Given the description of an element on the screen output the (x, y) to click on. 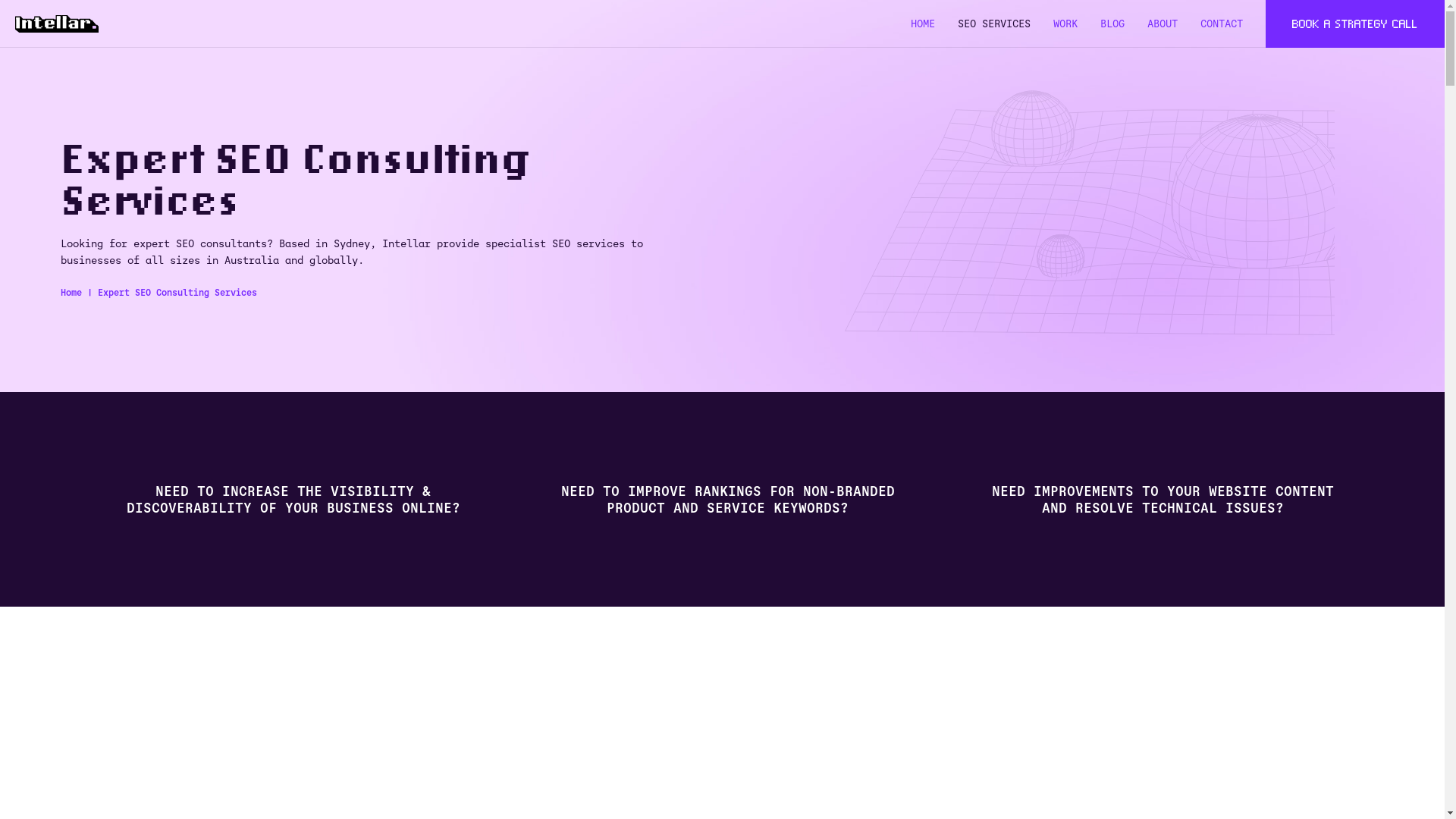
CONTACT Element type: text (1221, 23)
HOME Element type: text (922, 23)
WORK Element type: text (1065, 23)
Home Element type: text (70, 292)
BLOG Element type: text (1112, 23)
BOOK A STRATEGY CALL Element type: text (1354, 23)
ABOUT Element type: text (1162, 23)
SEO SERVICES Element type: text (993, 23)
